Given the description of an element on the screen output the (x, y) to click on. 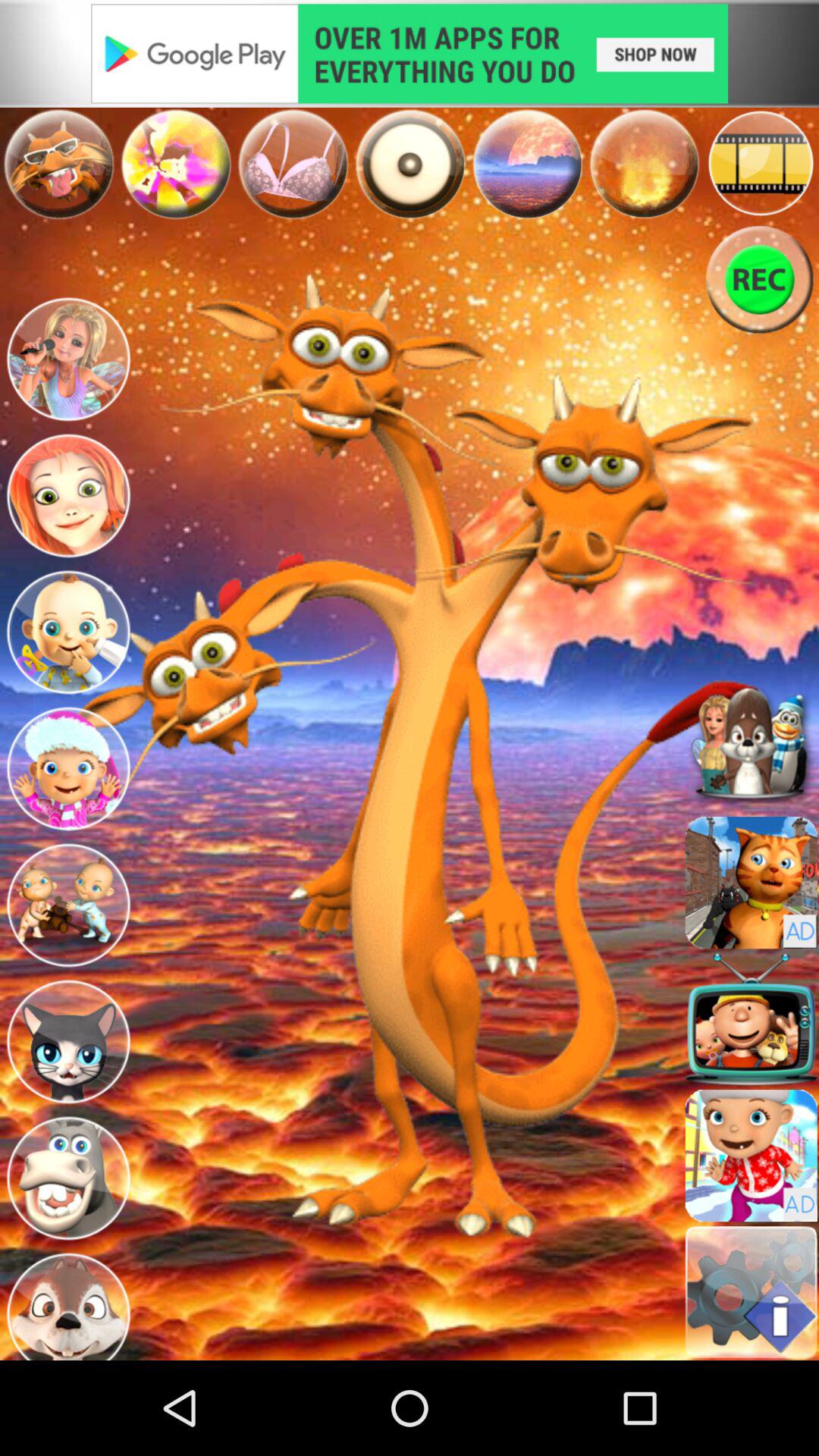
on (409, 163)
